Given the description of an element on the screen output the (x, y) to click on. 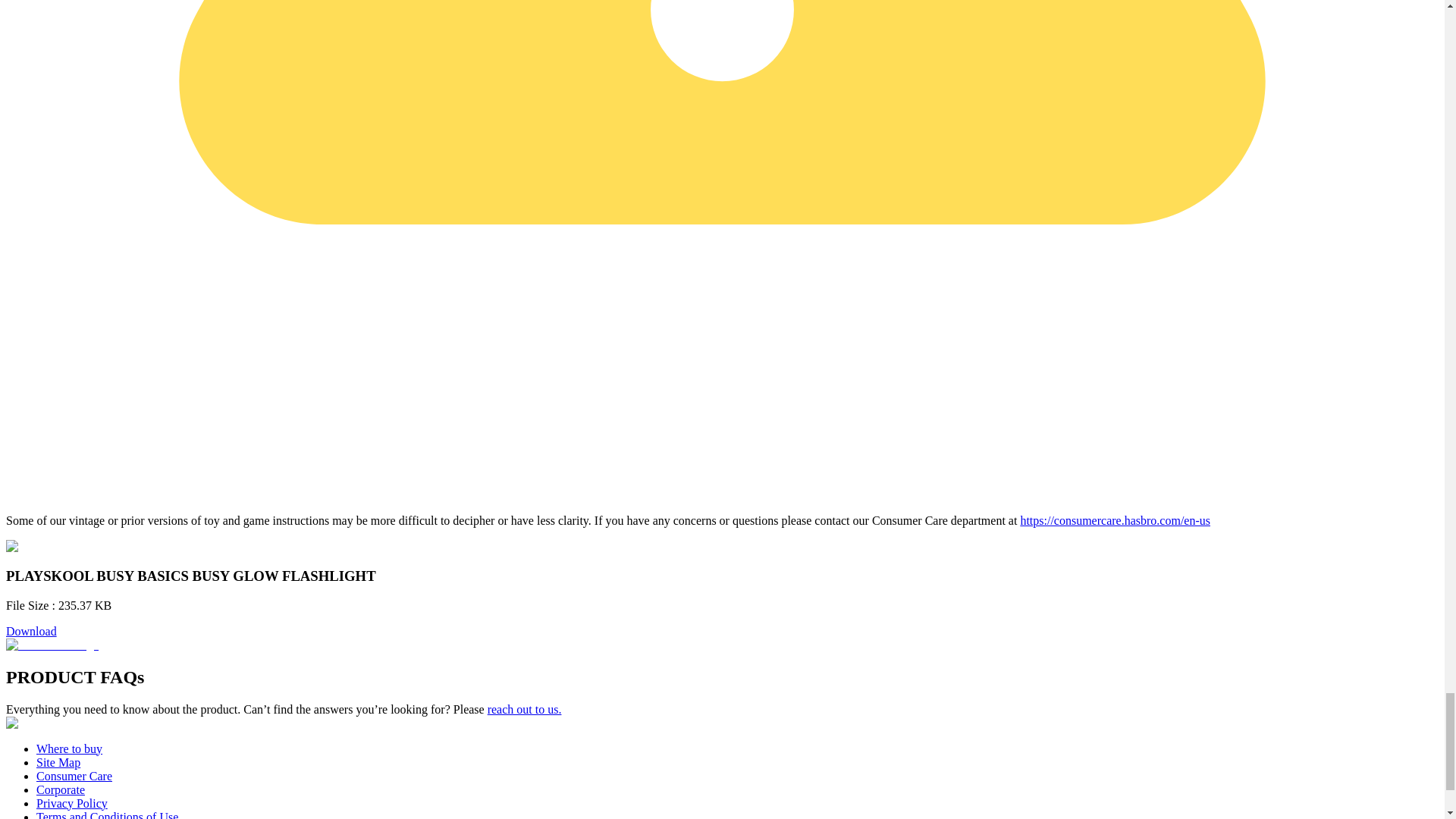
reach out to us. (524, 708)
Where to buy (68, 748)
Corporate (60, 789)
Terms and Conditions of Use (106, 814)
Privacy Policy (71, 802)
Consumer Care (74, 775)
Site Map (58, 762)
